Given the description of an element on the screen output the (x, y) to click on. 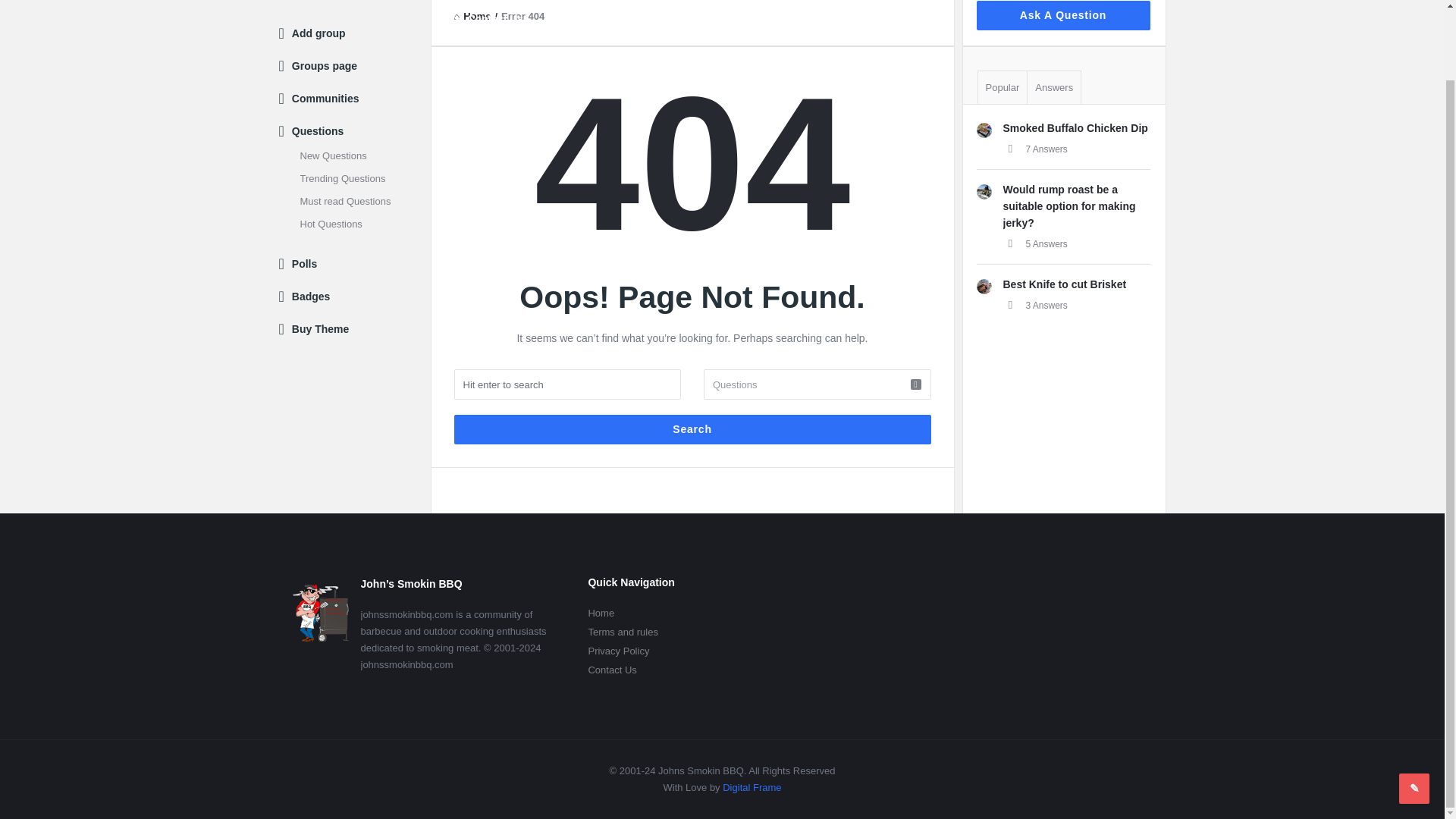
Hit enter to search (566, 384)
Hit enter to search (566, 384)
Ask a question (1414, 711)
oldschoolbbq (983, 130)
Home (471, 16)
Best Knife to cut Brisket (1064, 284)
salmonclubber (983, 191)
Smoked Buffalo Chicken Dip (1075, 128)
Contact Us (487, 19)
Would rump roast be a suitable option for making jerky? (1069, 206)
